Given the description of an element on the screen output the (x, y) to click on. 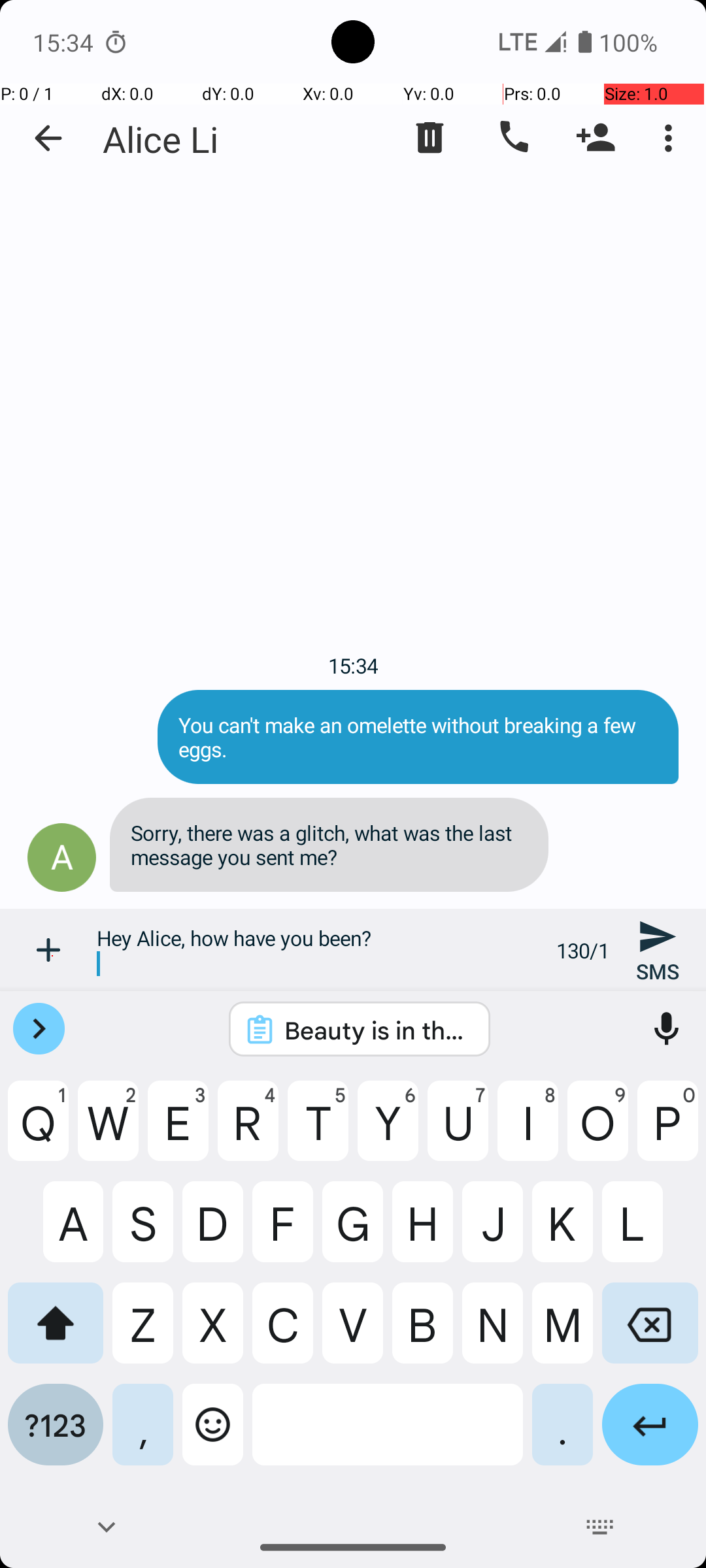
Alice Li Element type: android.widget.TextView (160, 138)
Hey Alice, how have you been?
 Element type: android.widget.EditText (318, 949)
130/1 Element type: android.widget.TextView (582, 950)
You can't make an omelette without breaking a few eggs. Element type: android.widget.TextView (417, 736)
Beauty is in the eye of the beholder. Element type: android.widget.TextView (376, 1029)
